Given the description of an element on the screen output the (x, y) to click on. 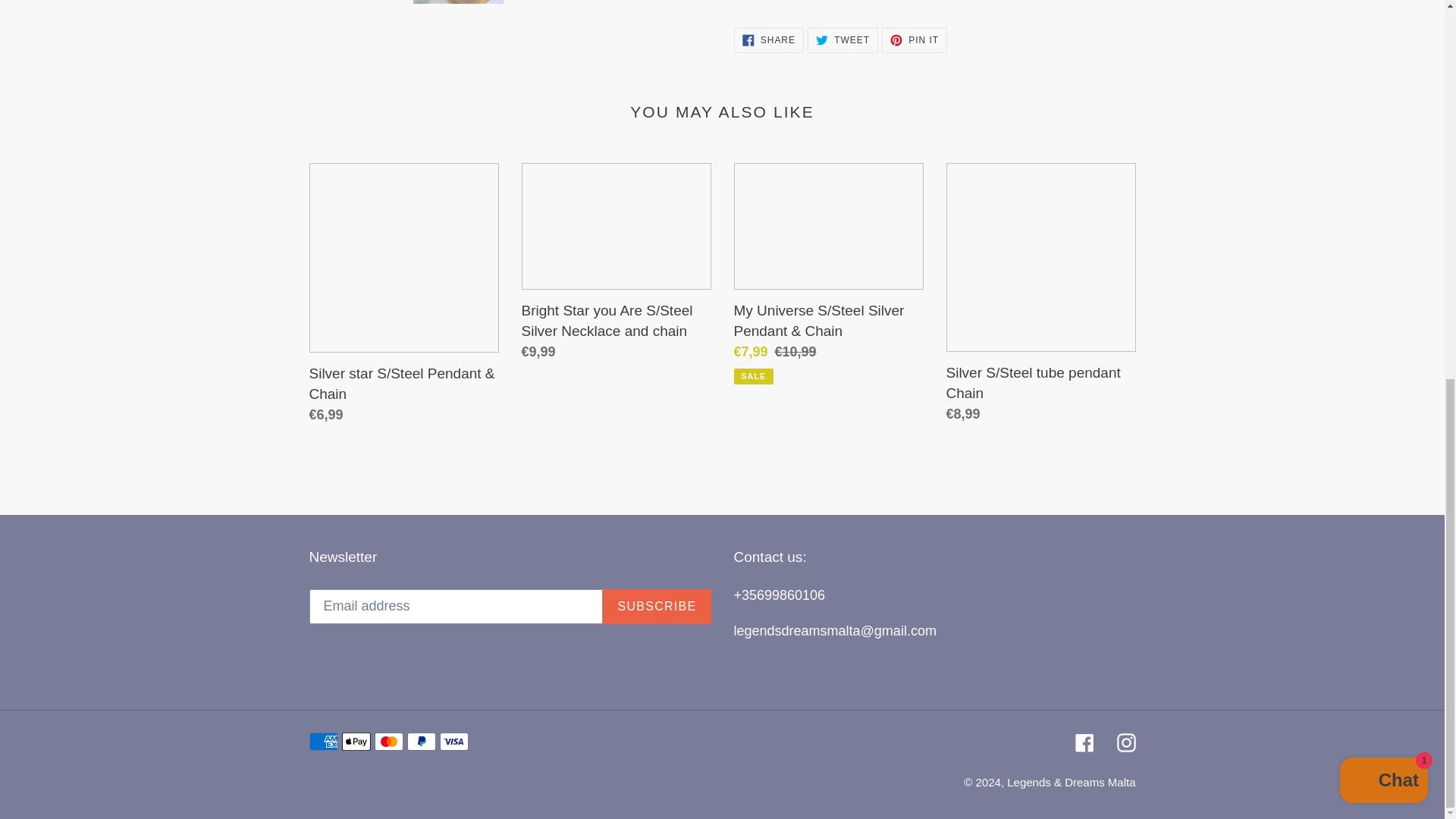
Shopify online store chat (1383, 79)
